Given the description of an element on the screen output the (x, y) to click on. 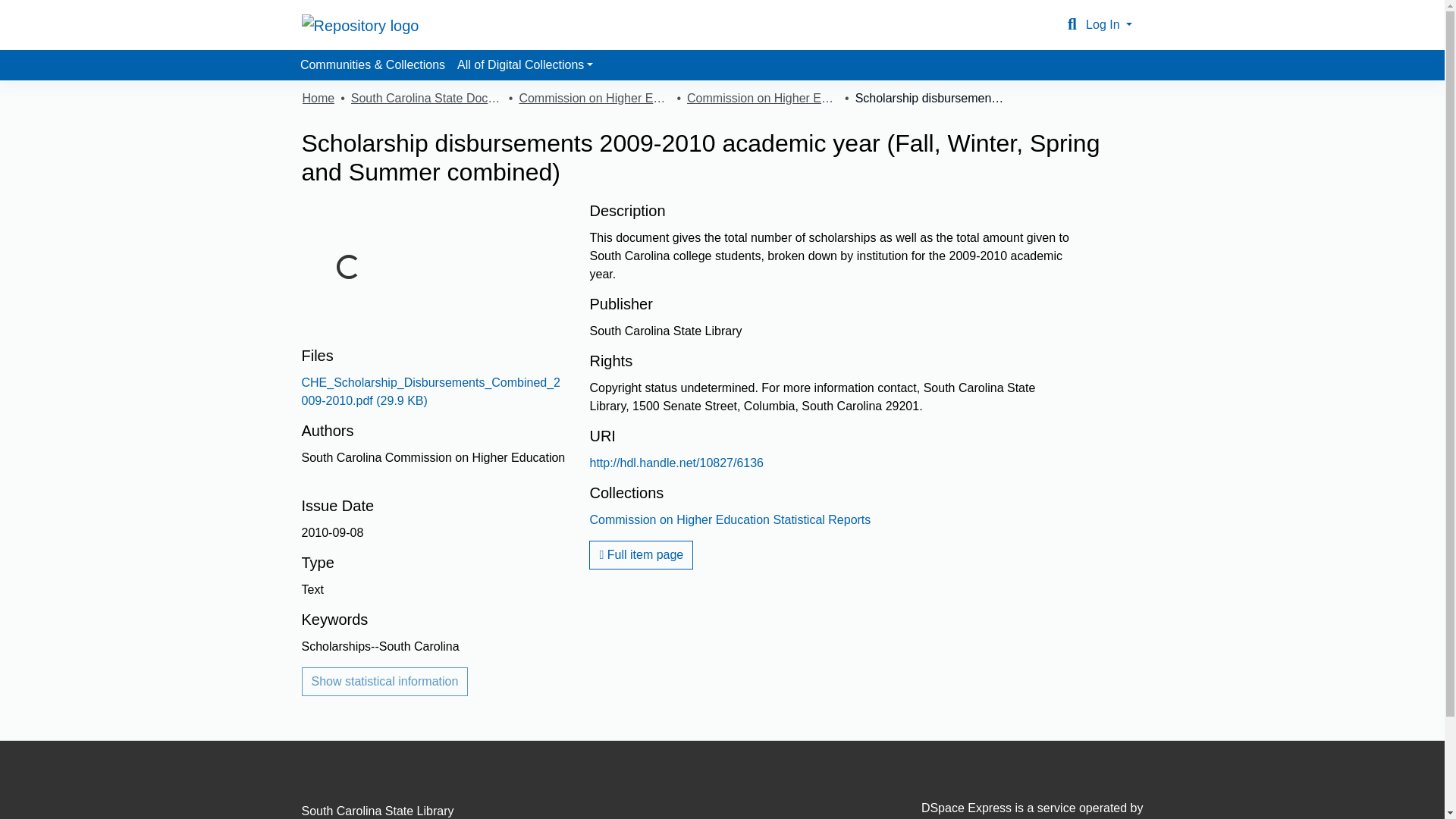
Commission on Higher Education (593, 98)
Show statistical information (384, 681)
All of Digital Collections (524, 64)
South Carolina State Documents Depository (426, 98)
DSpace Express is a service operated by (1009, 810)
South Carolina State Library (377, 810)
Search (1072, 24)
Commission on Higher Education Statistical Reports (729, 519)
Full item page (641, 554)
Home (317, 98)
Log In (1108, 24)
Commission on Higher Education Statistical Reports (762, 98)
